Given the description of an element on the screen output the (x, y) to click on. 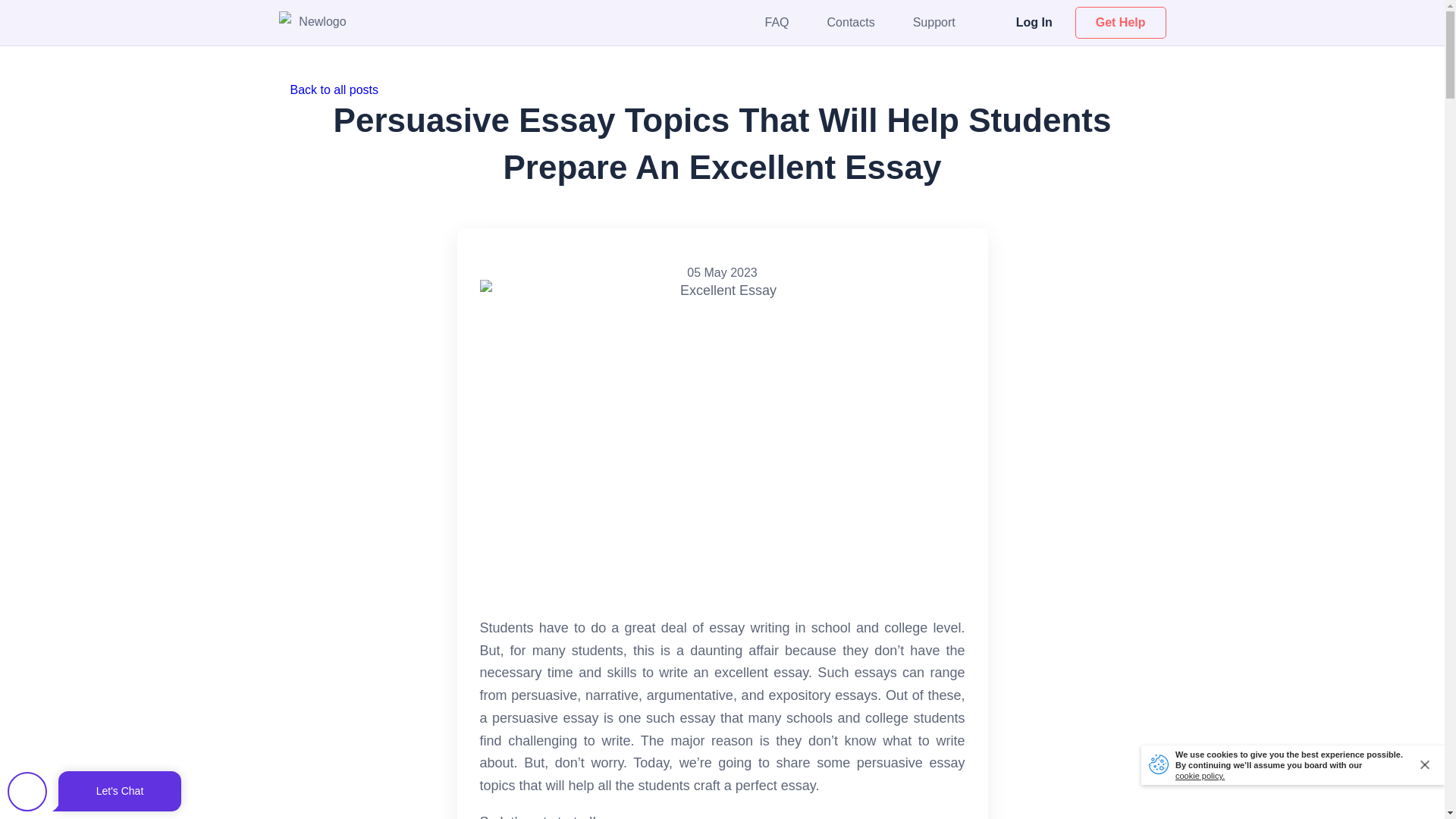
cookie policy. (1199, 775)
Support (933, 21)
FAQ (777, 21)
Close (1425, 764)
Contacts (851, 21)
Log In (1034, 21)
Let's Chat (93, 791)
Back to all posts (721, 89)
